Given the description of an element on the screen output the (x, y) to click on. 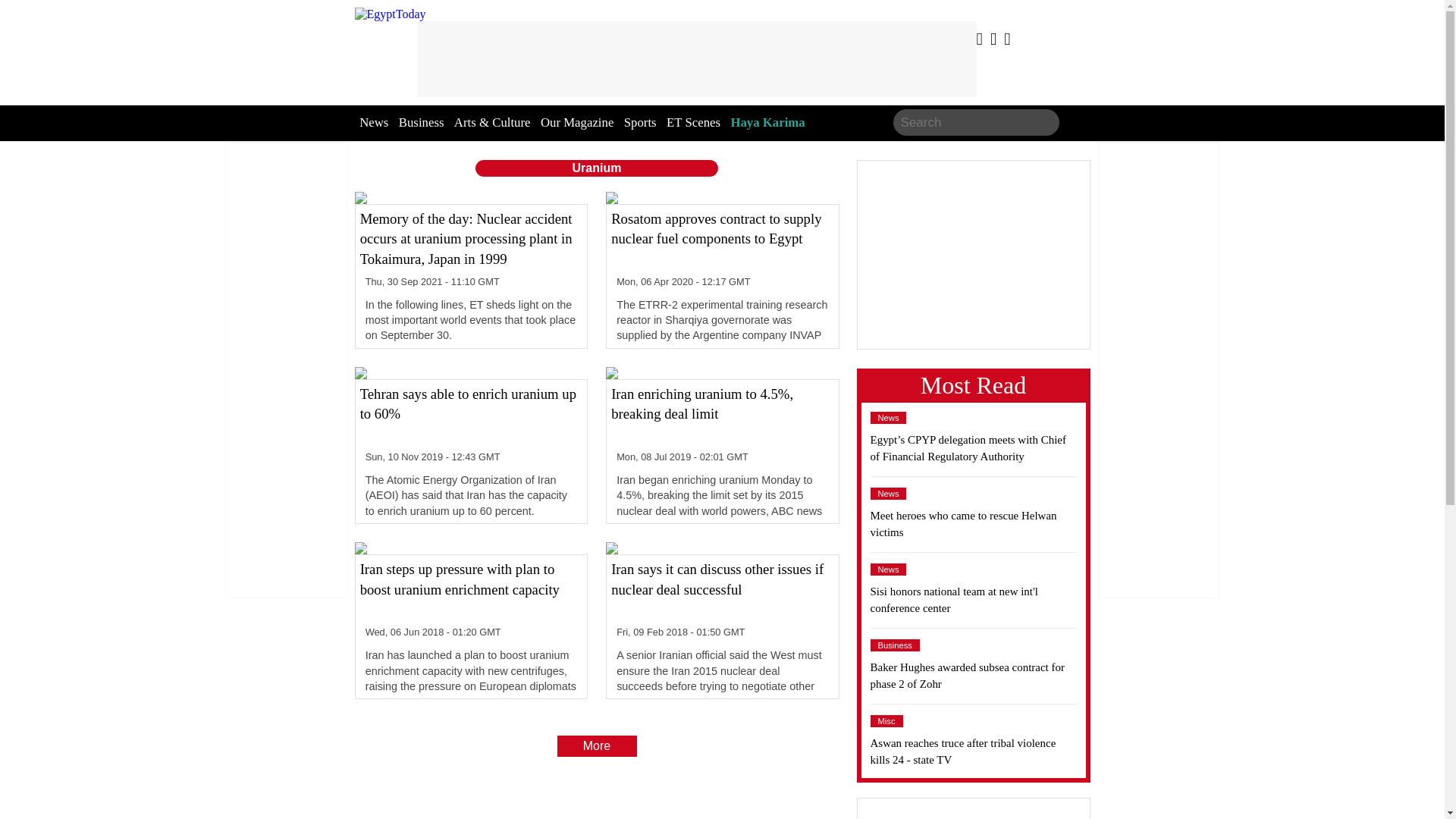
Our Magazine (576, 122)
News (888, 417)
Sports (640, 122)
Haya Karima (767, 122)
Meet heroes who came to rescue Helwan victims (973, 523)
News (888, 493)
